Given the description of an element on the screen output the (x, y) to click on. 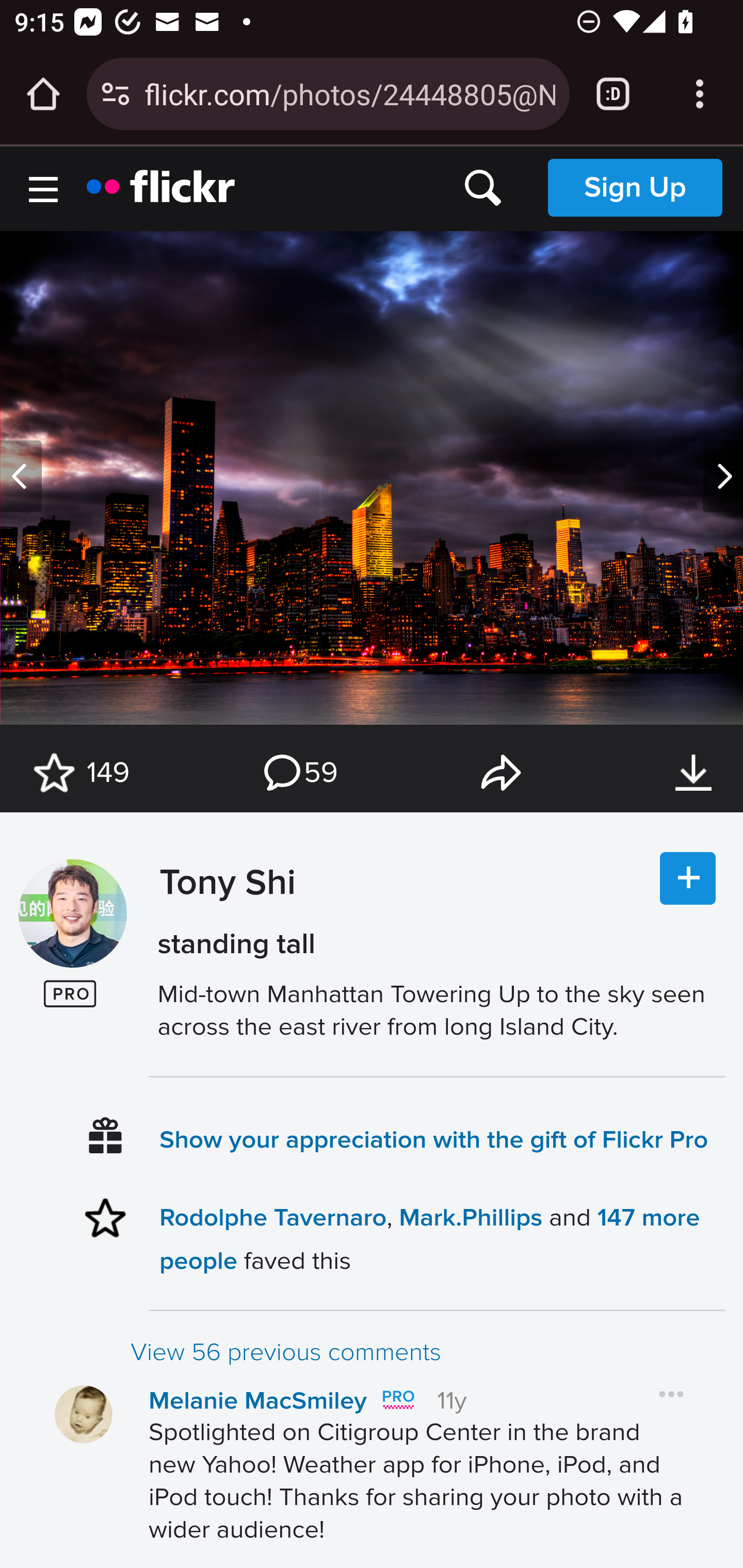
Open the home page (43, 93)
Connection is secure (115, 93)
Switch or close tabs (612, 93)
Customize and control Google Chrome (699, 93)
flickr.com/photos/24448805@N07/2909441524 (349, 92)
Sign Up Sign Up Sign Up (634, 187)
59 (299, 772)
Download this photo (692, 772)
Follow (687, 878)
tonyshi (72, 914)
Tony Shi (222, 931)
Show your appreciation with the gift of Flickr Pro (434, 1138)
147 more people (429, 1238)
View 56 previous comments (427, 1352)
macsmiley (83, 1414)
Melanie MacSmiley (257, 1400)
Flickr ♥ our Old School Pros (397, 1399)
